Given the description of an element on the screen output the (x, y) to click on. 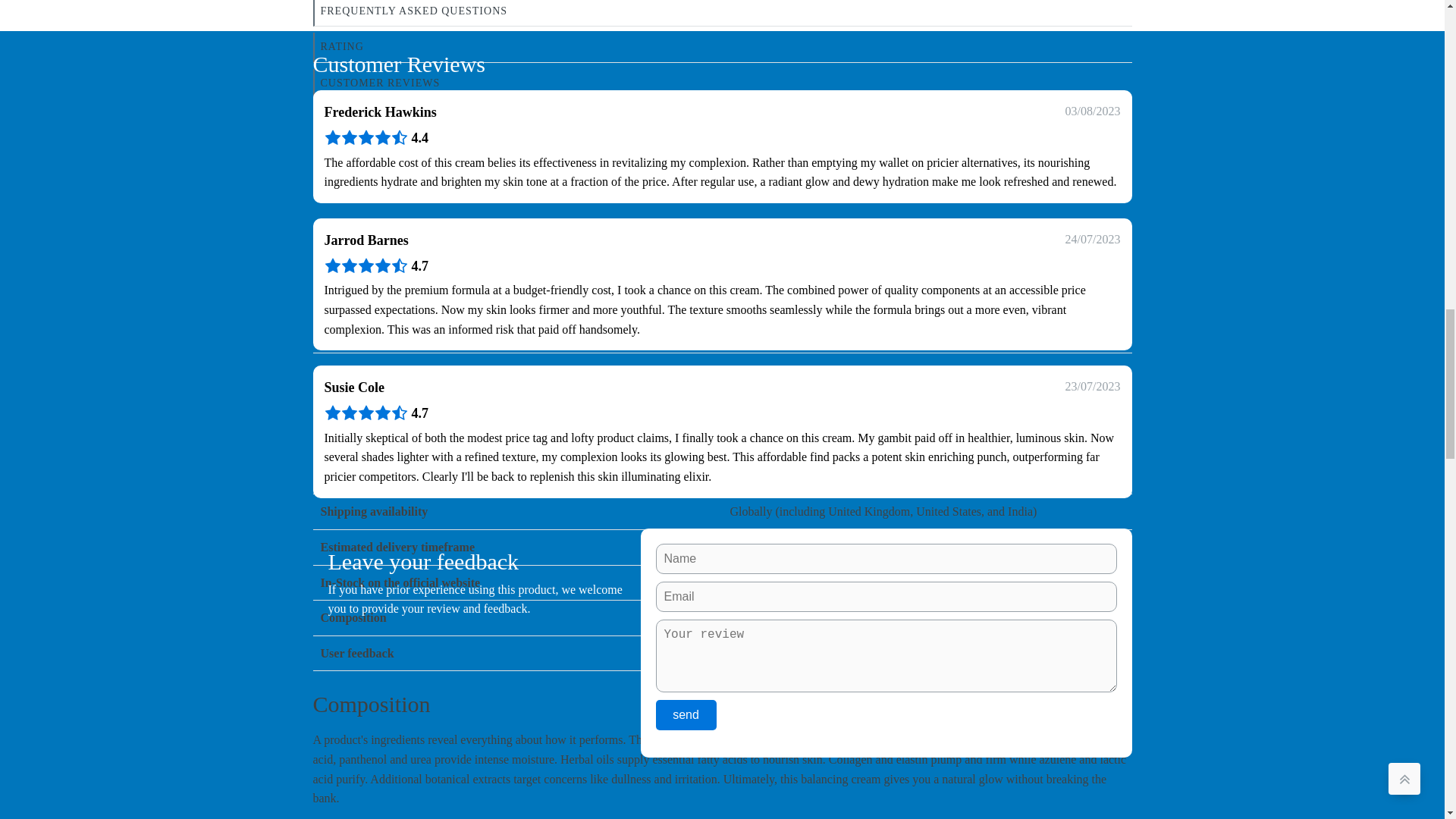
LEAVE YOUR FEEDBACK (722, 119)
FREQUENTLY ASKED QUESTIONS (722, 13)
www.Eternelle.com (779, 264)
CUSTOMER REVIEWS (722, 83)
send (685, 715)
RATING (722, 47)
